Given the description of an element on the screen output the (x, y) to click on. 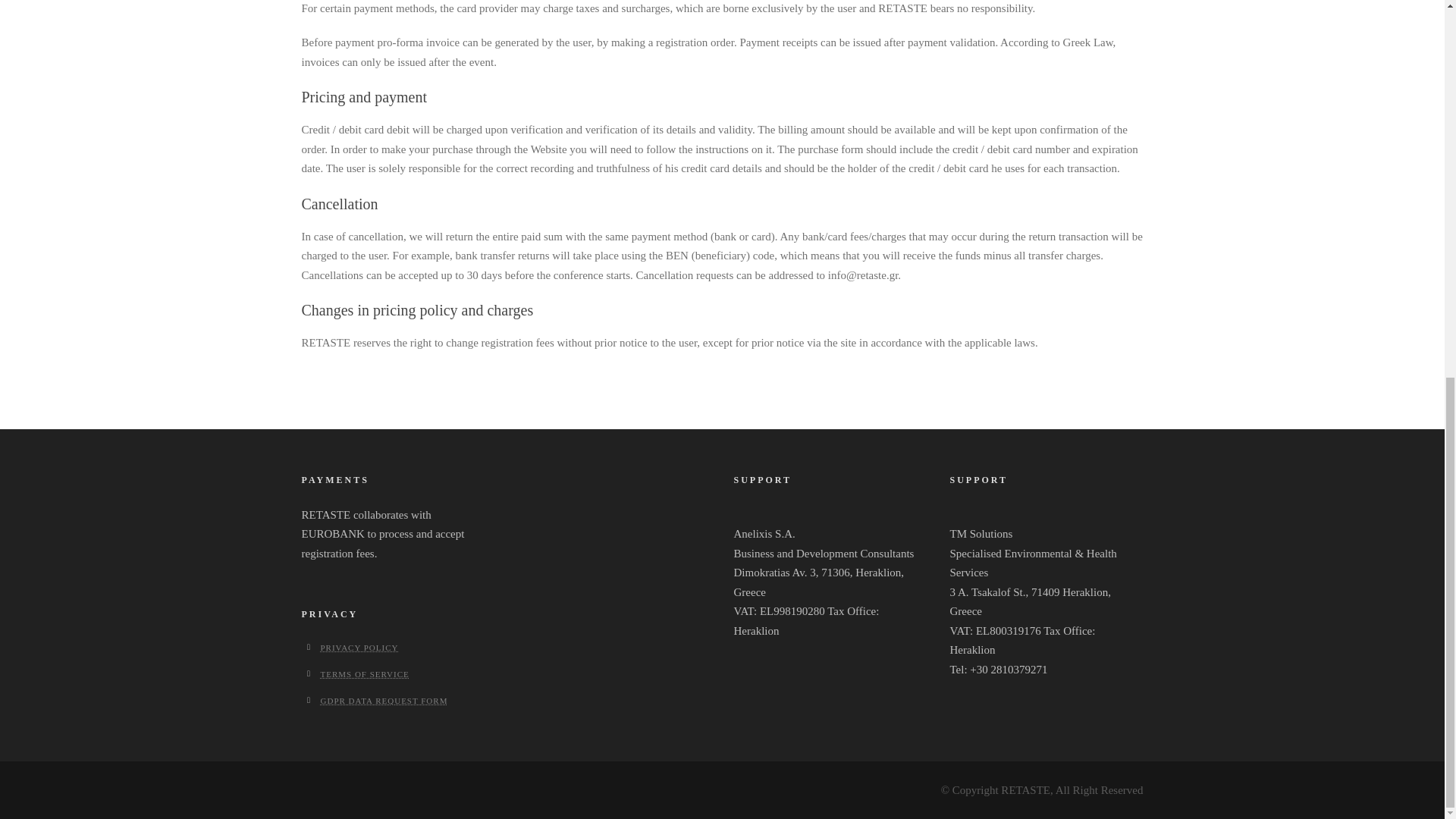
TERMS OF SERVICE (364, 673)
PRIVACY POLICY (358, 646)
GDPR DATA REQUEST FORM (383, 700)
